Given the description of an element on the screen output the (x, y) to click on. 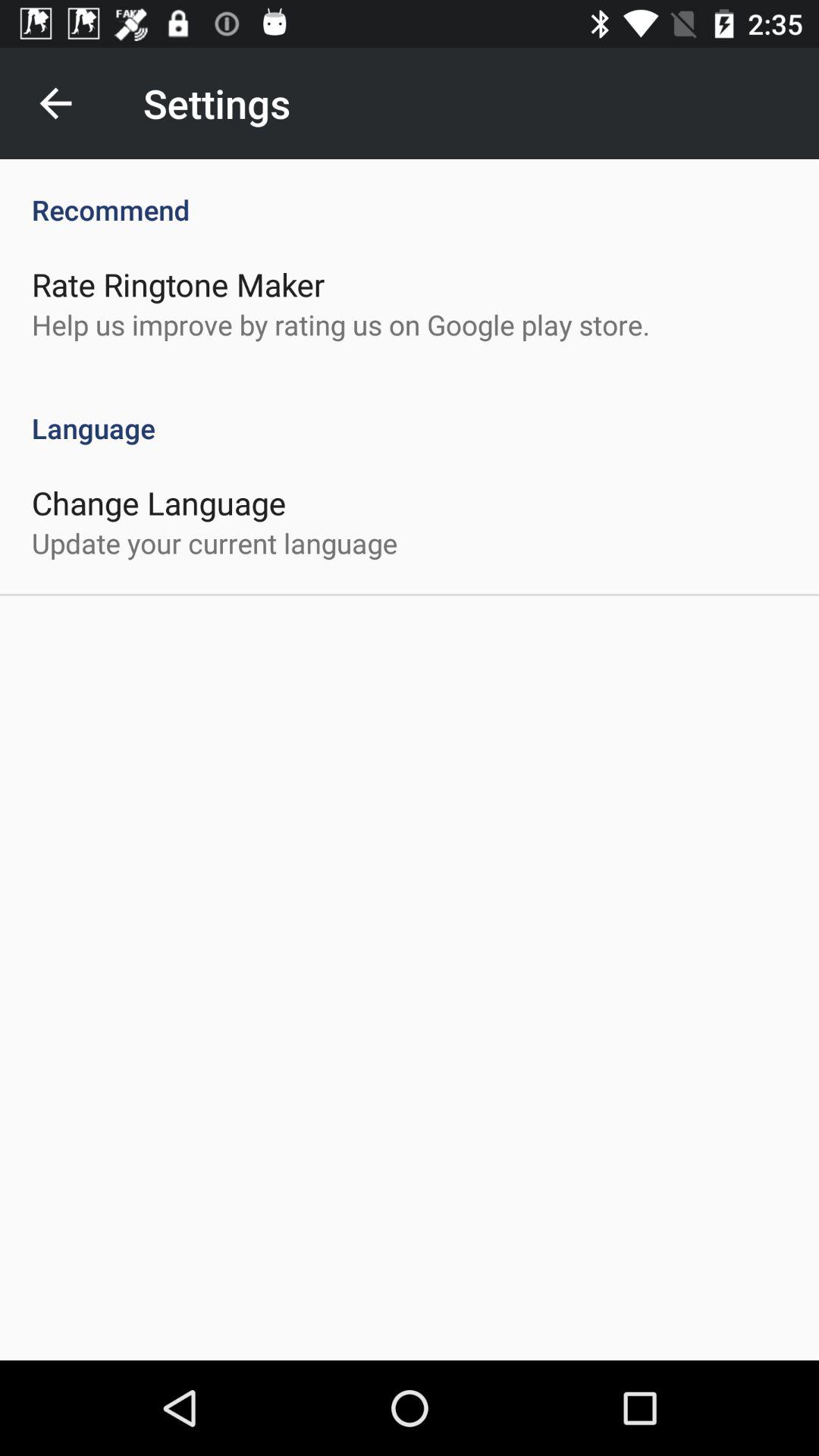
launch the update your current (214, 542)
